Given the description of an element on the screen output the (x, y) to click on. 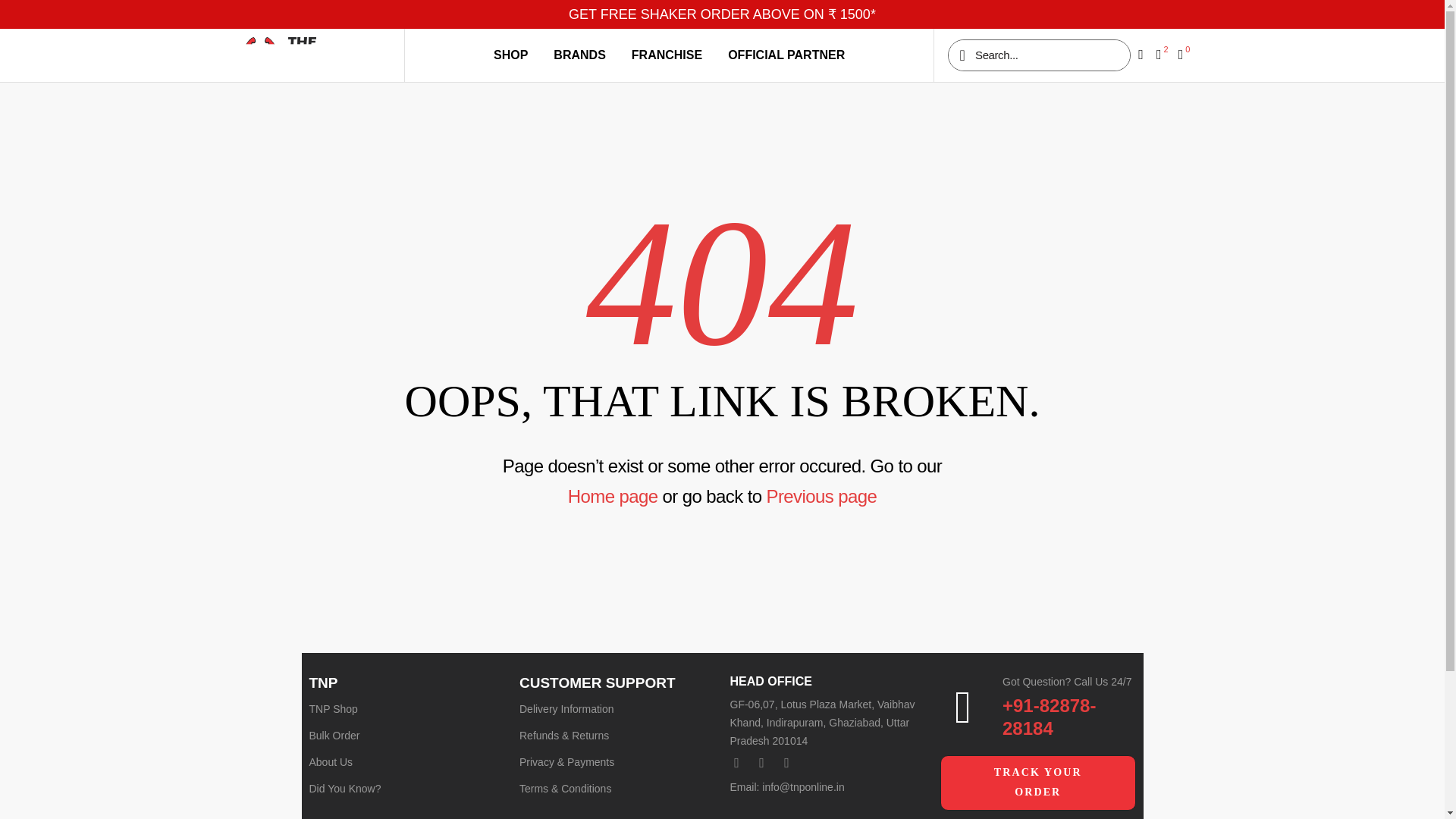
Search (1047, 54)
About Us (406, 761)
FRANCHISE (666, 55)
Previous page (822, 496)
SHOP (509, 55)
Home page (612, 496)
BRANDS (579, 55)
TNP Shop (406, 708)
OFFICIAL PARTNER (786, 55)
Bulk Order (406, 735)
